Given the description of an element on the screen output the (x, y) to click on. 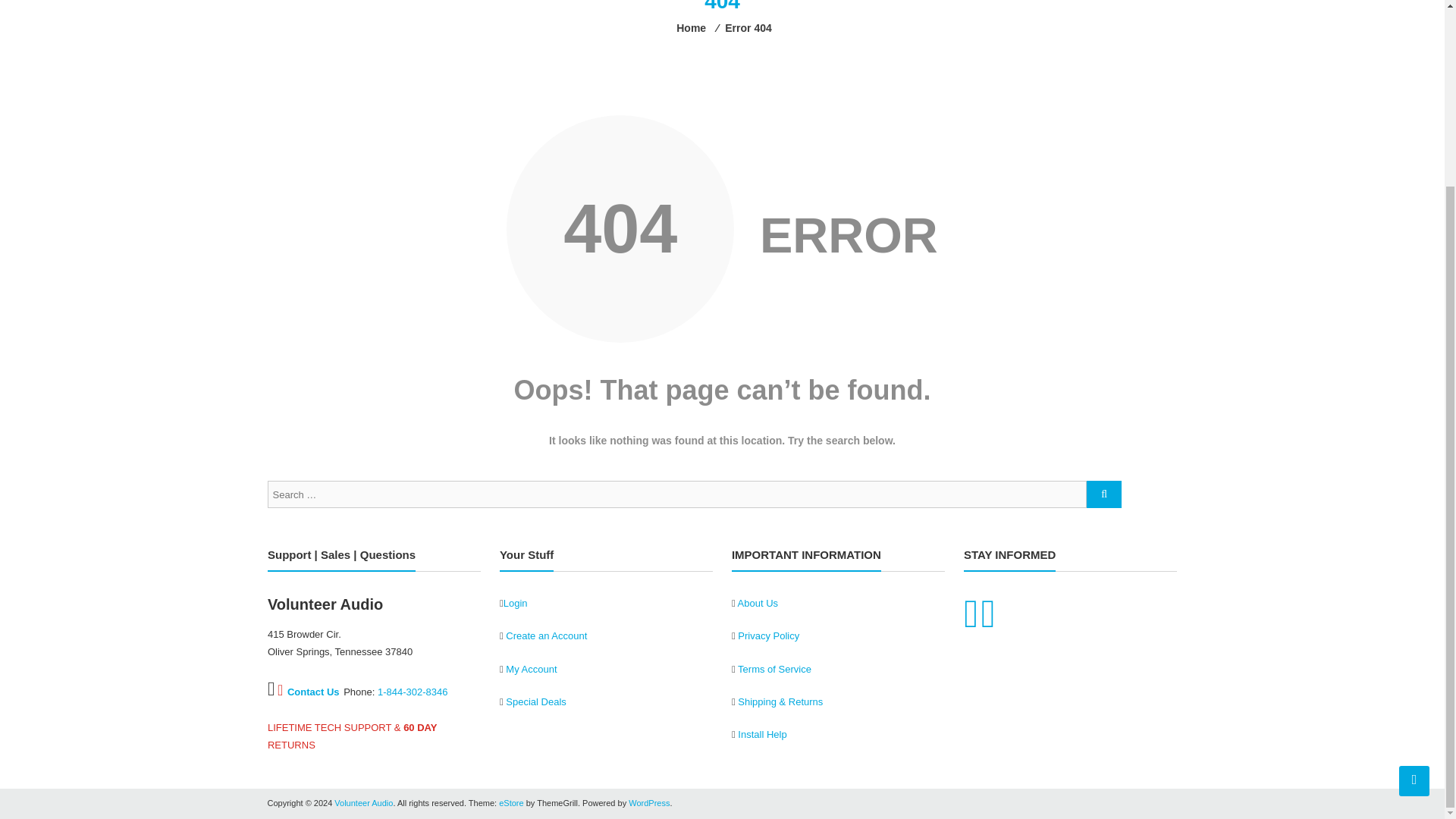
Search (1150, 12)
Volunteer Audio (363, 802)
Home (691, 28)
